Given the description of an element on the screen output the (x, y) to click on. 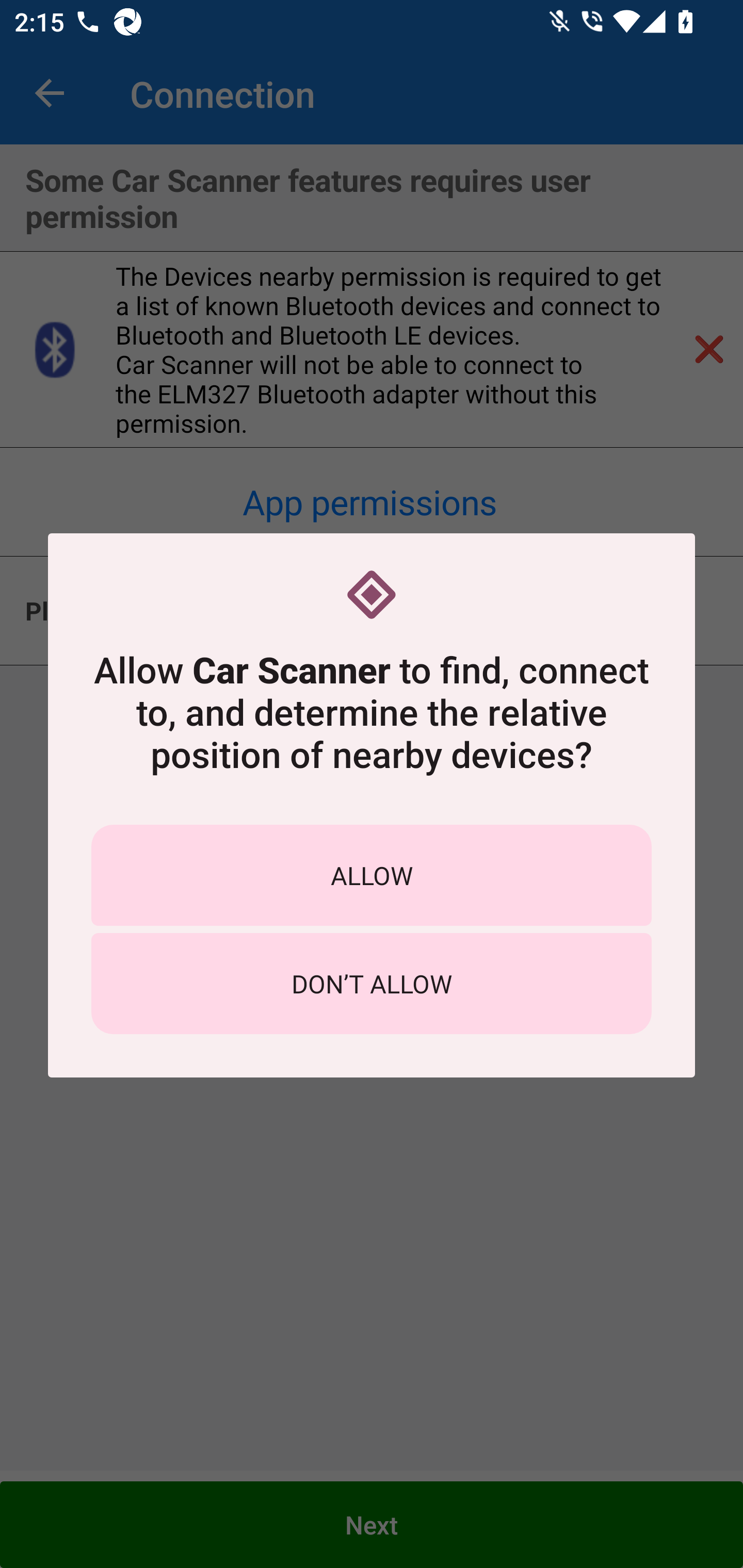
ALLOW (371, 874)
DON’T ALLOW (371, 983)
